Given the description of an element on the screen output the (x, y) to click on. 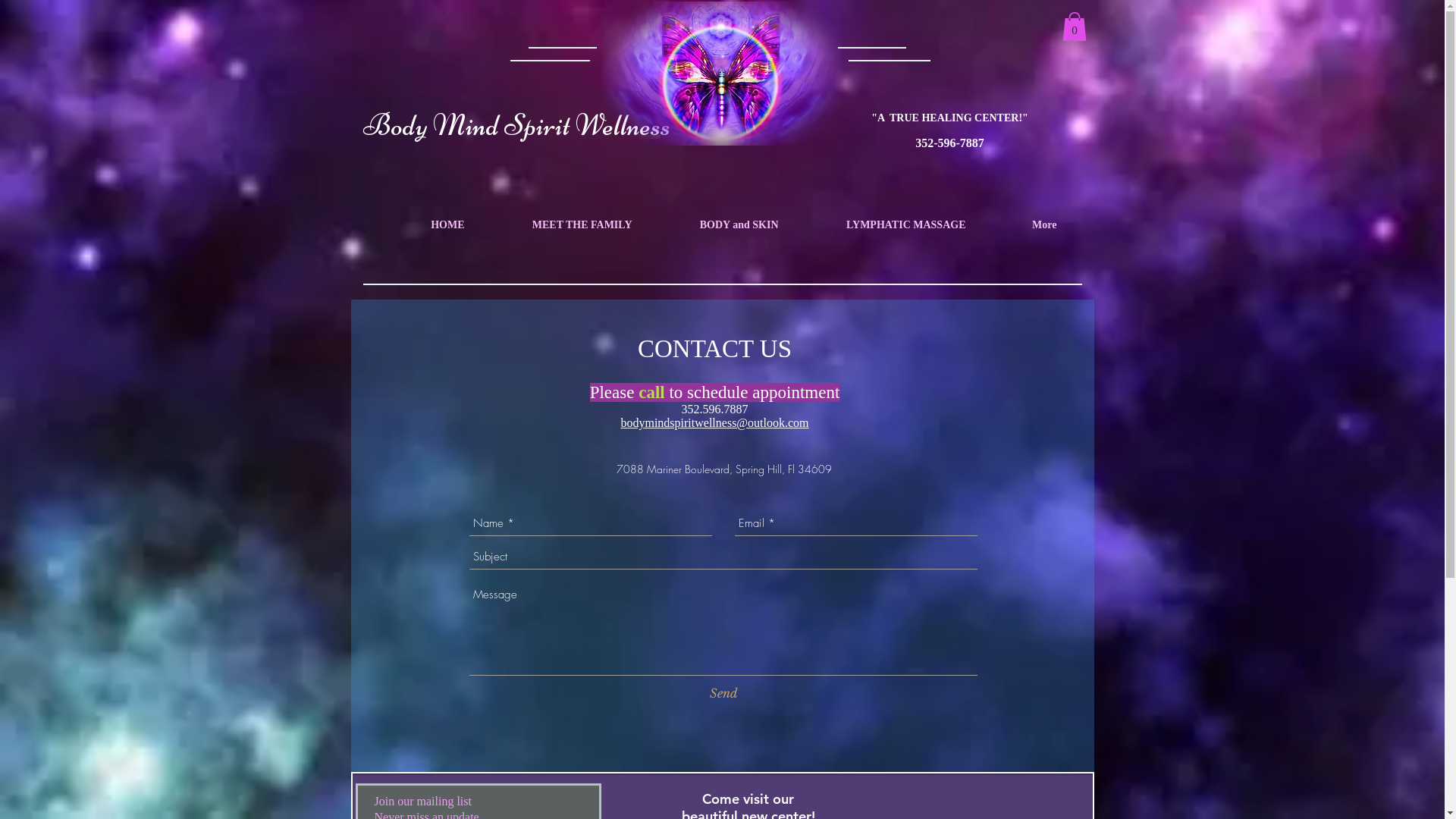
"A  TRUE HEALING CENTER!" Element type: text (949, 117)
0 Element type: text (1073, 26)
la.png Element type: hover (720, 73)
HOME Element type: text (424, 224)
Send Element type: text (723, 693)
bodymindspiritwellness@outlook.com Element type: text (714, 422)
